Given the description of an element on the screen output the (x, y) to click on. 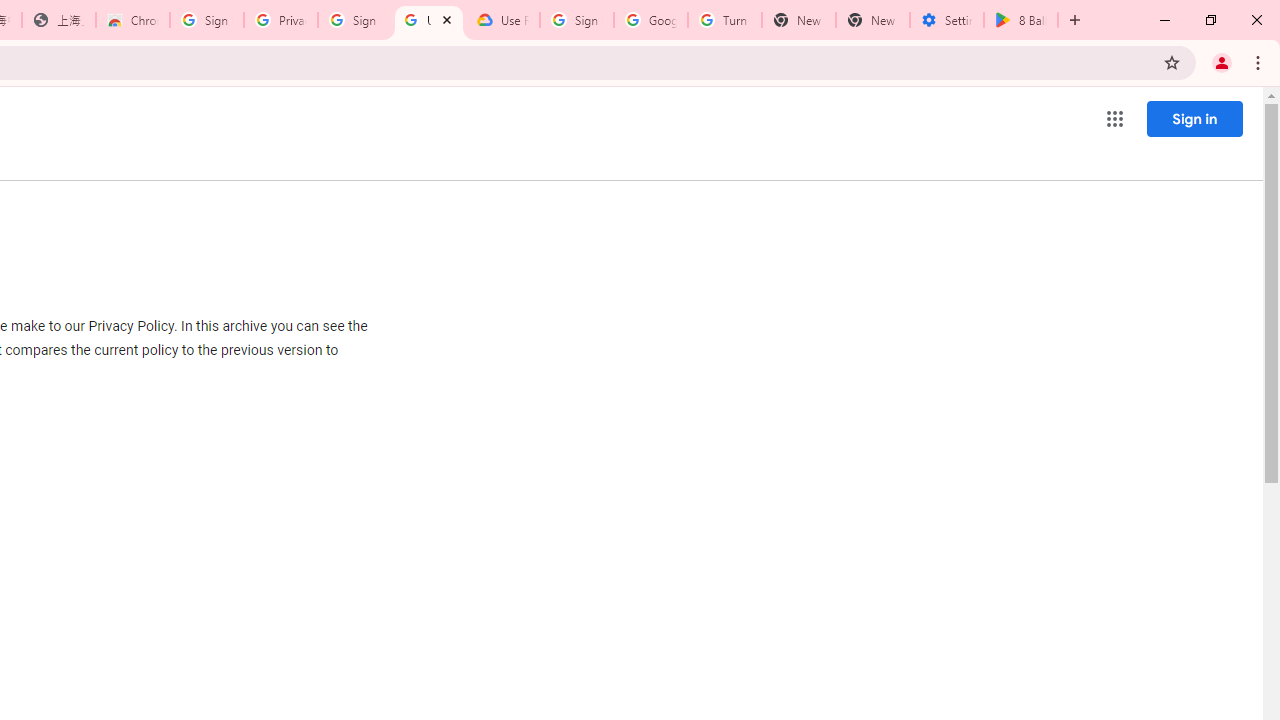
Sign in - Google Accounts (354, 20)
8 Ball Pool - Apps on Google Play (1021, 20)
Settings - System (947, 20)
